Given the description of an element on the screen output the (x, y) to click on. 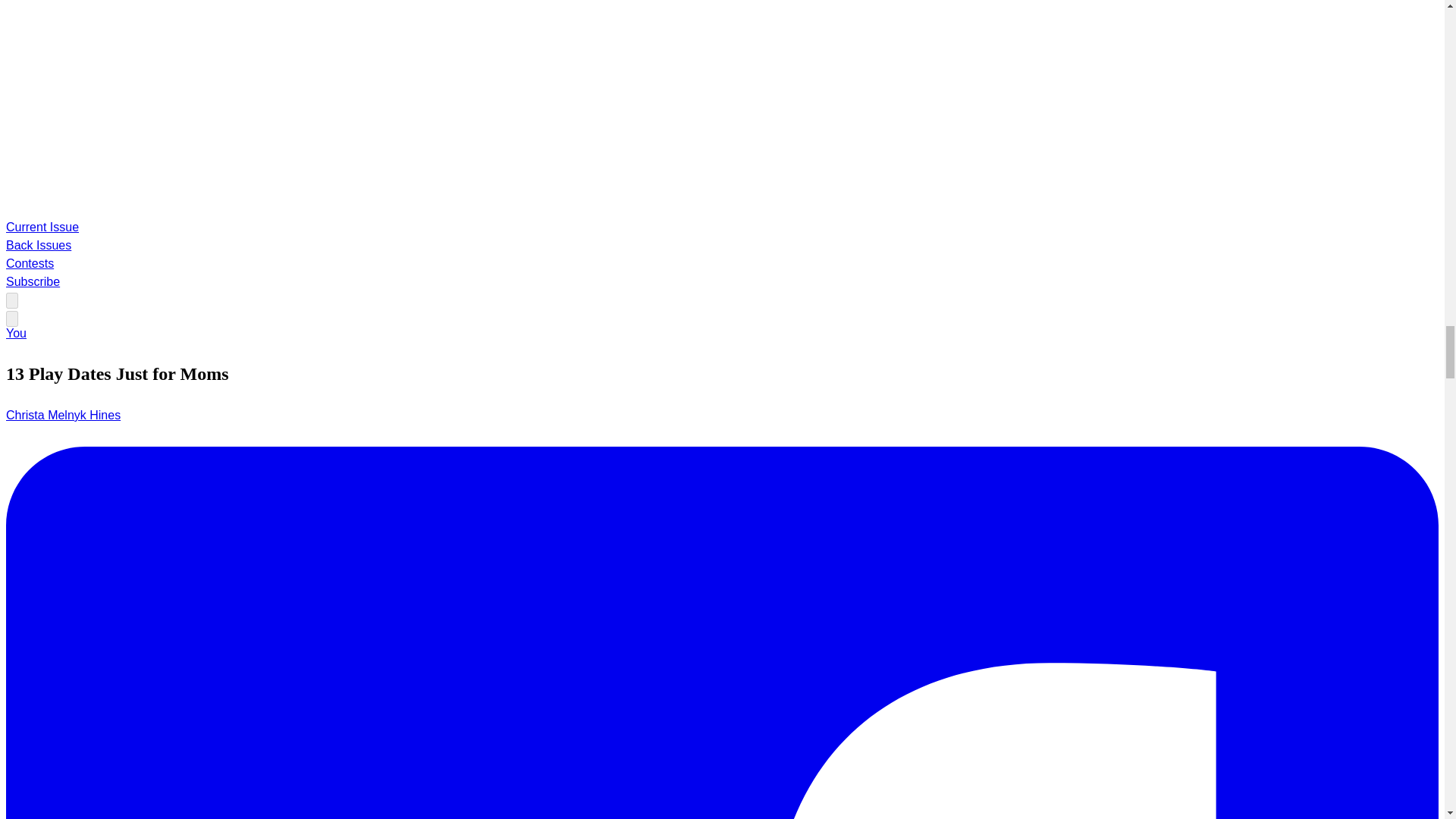
Contests (29, 263)
Back Issues (38, 245)
Current Issue (41, 226)
Subscribe (32, 281)
